Given the description of an element on the screen output the (x, y) to click on. 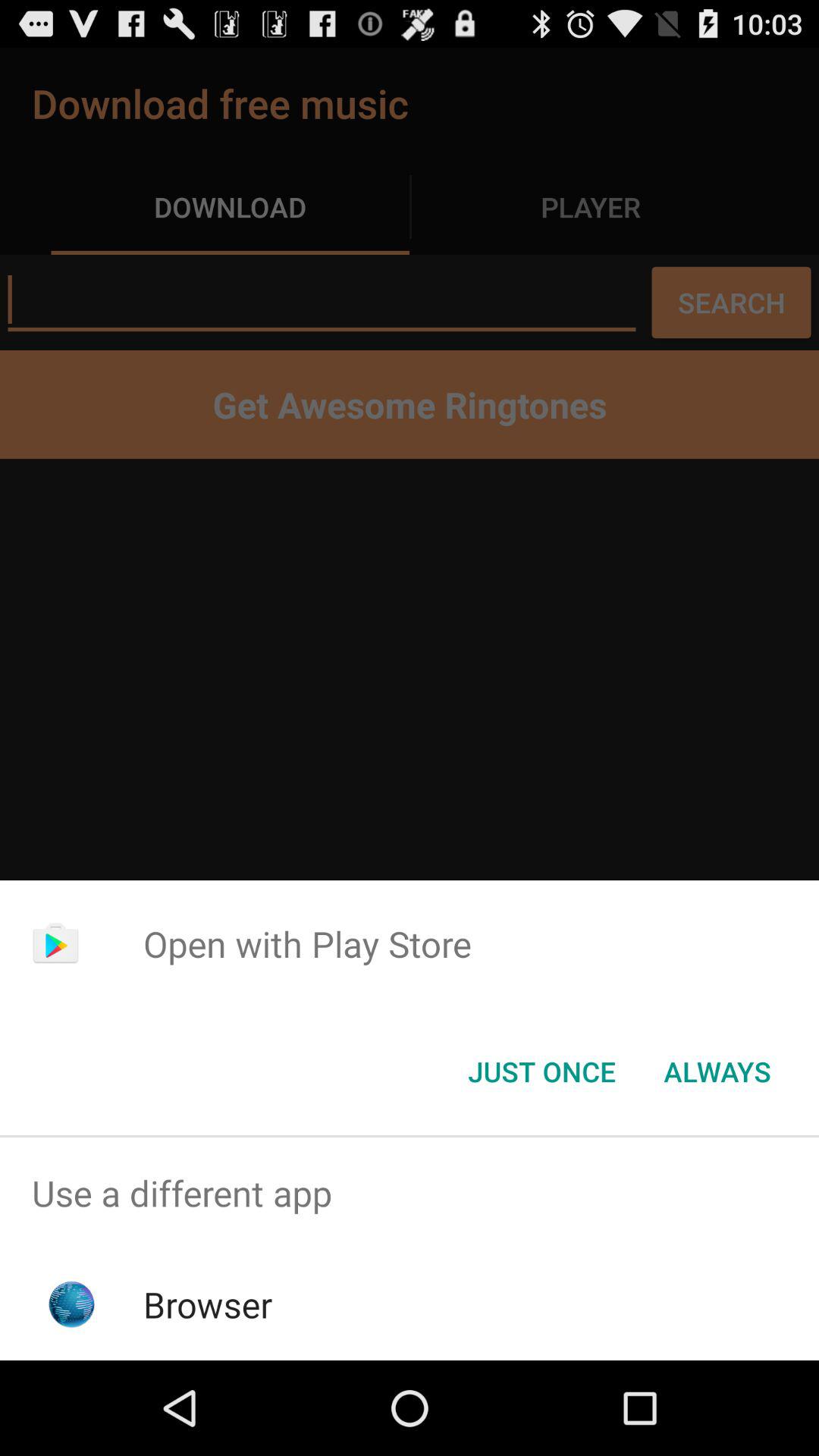
jump until the just once (541, 1071)
